Given the description of an element on the screen output the (x, y) to click on. 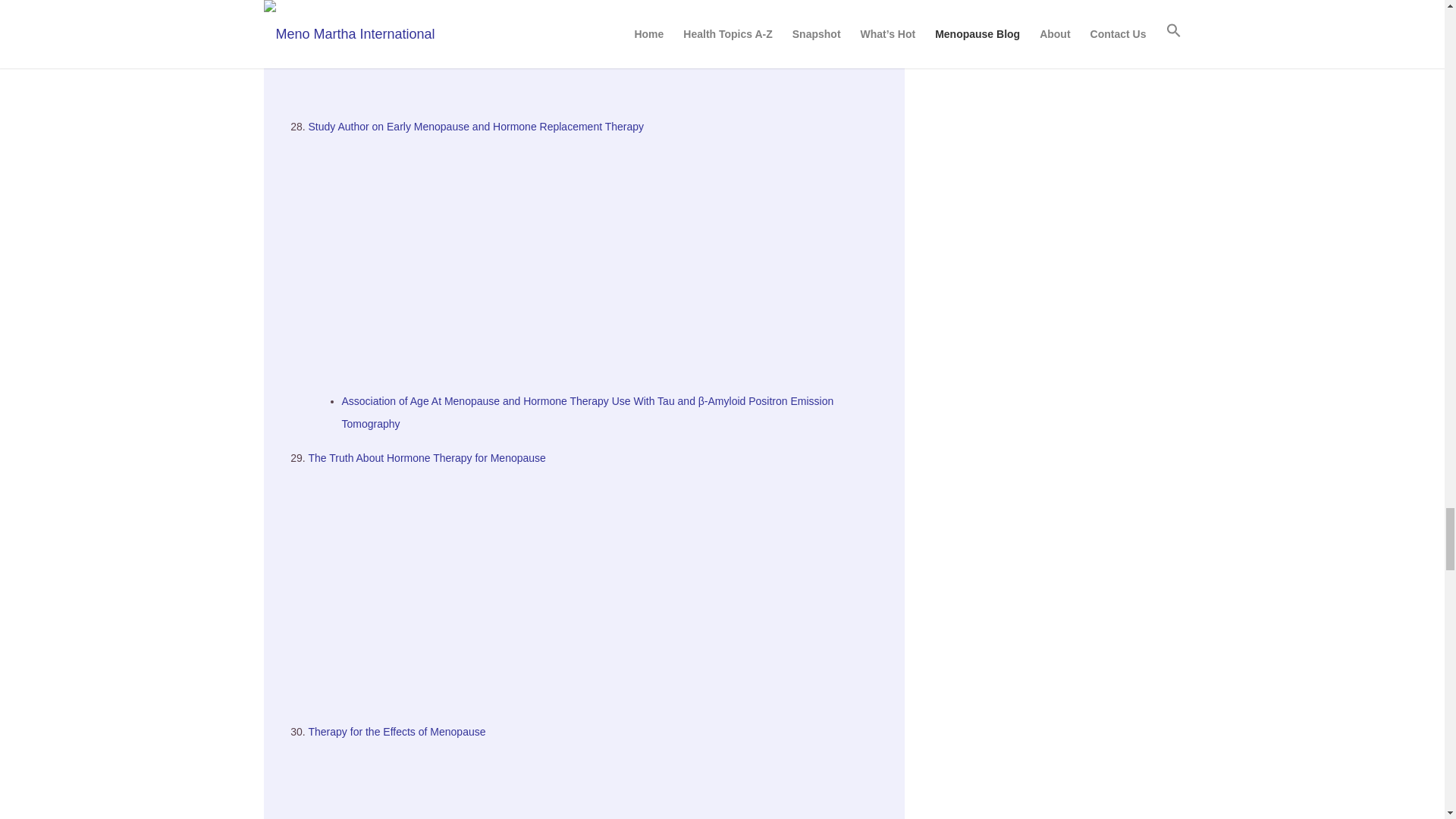
YouTube video player (597, 588)
YouTube video player (597, 51)
YouTube video player (597, 257)
